Given the description of an element on the screen output the (x, y) to click on. 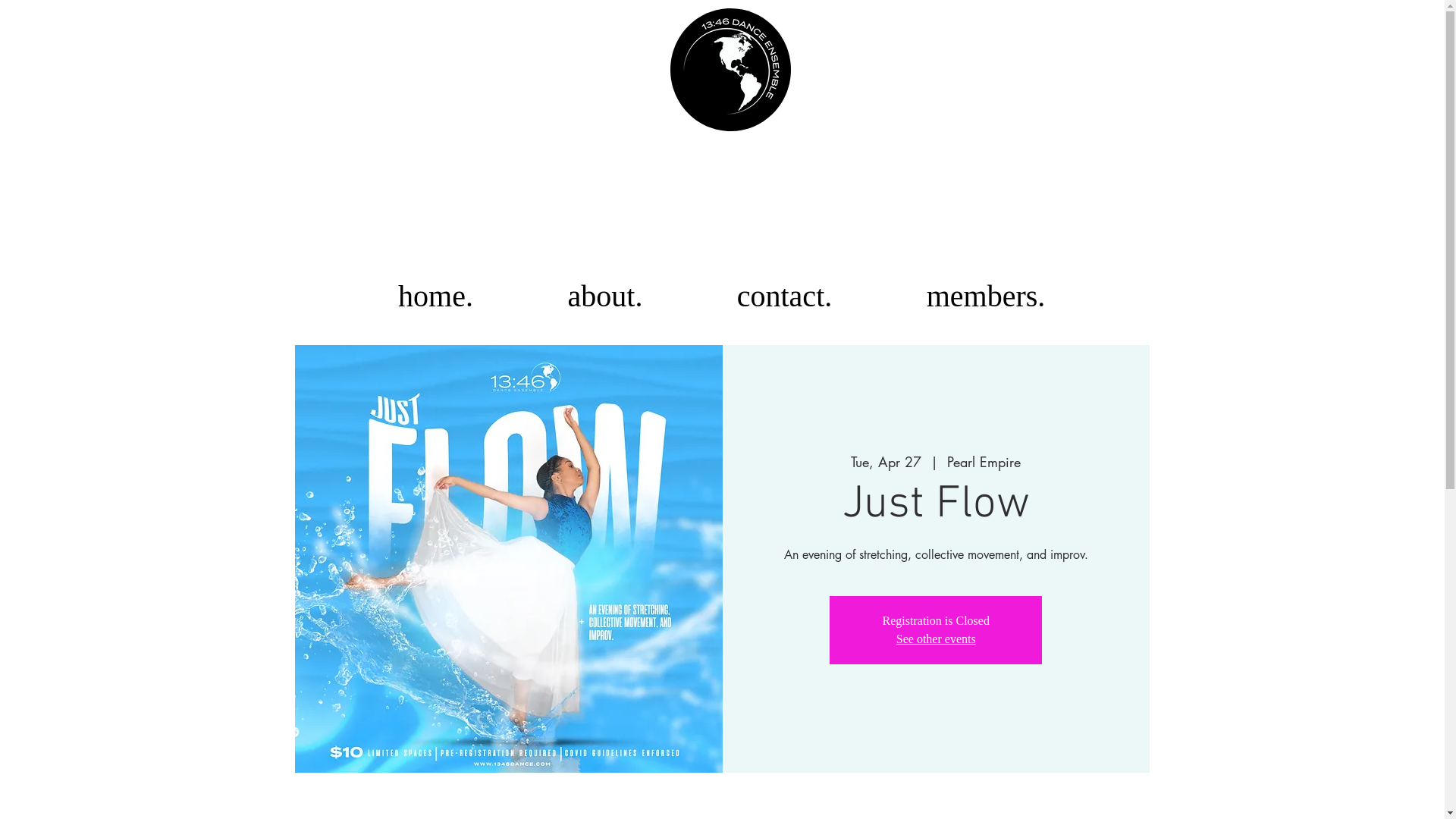
about. Element type: text (604, 295)
See other events Element type: text (935, 638)
contact. Element type: text (784, 295)
members. Element type: text (985, 295)
home. Element type: text (435, 295)
